Given the description of an element on the screen output the (x, y) to click on. 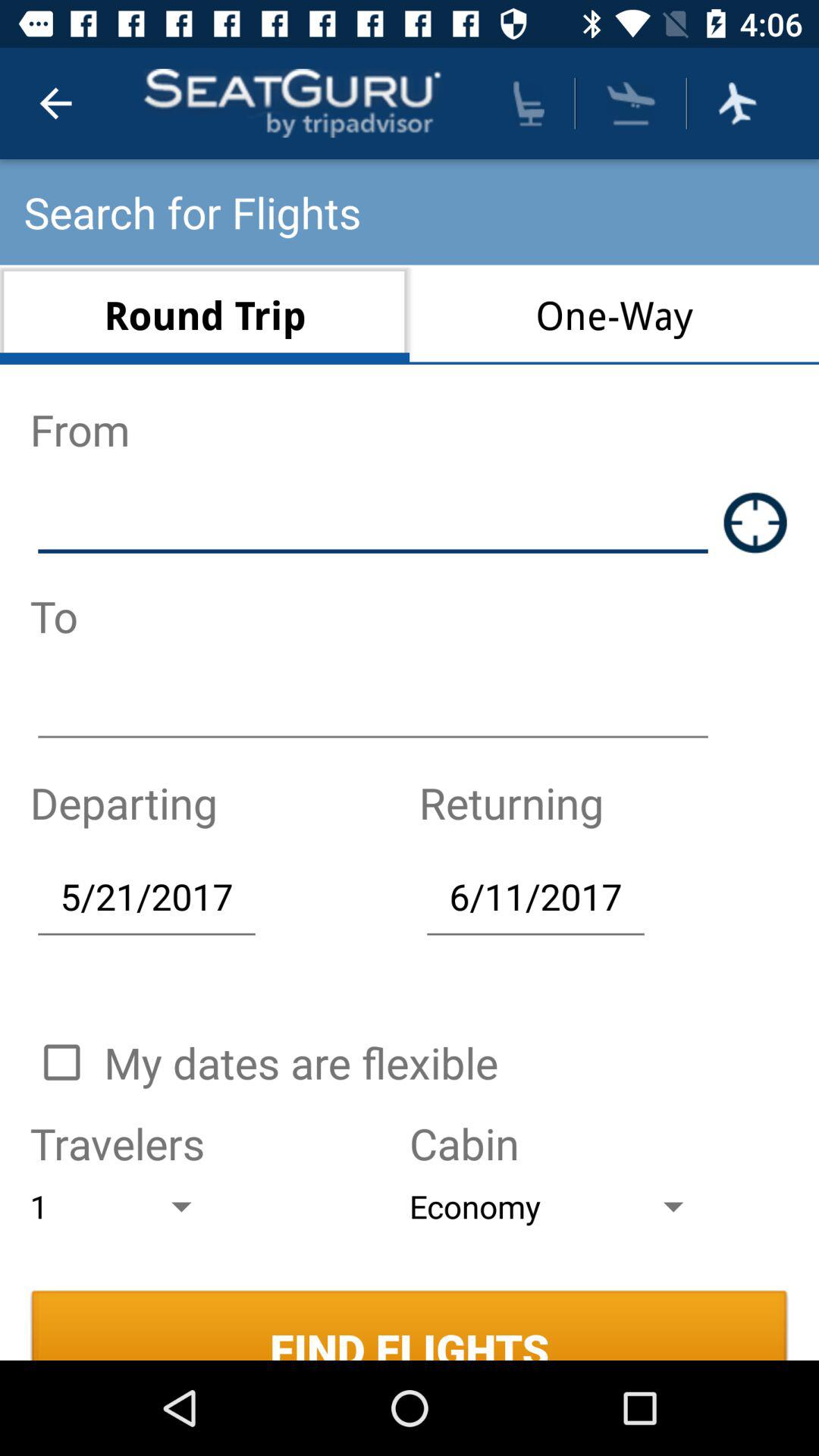
enter destination (373, 708)
